Given the description of an element on the screen output the (x, y) to click on. 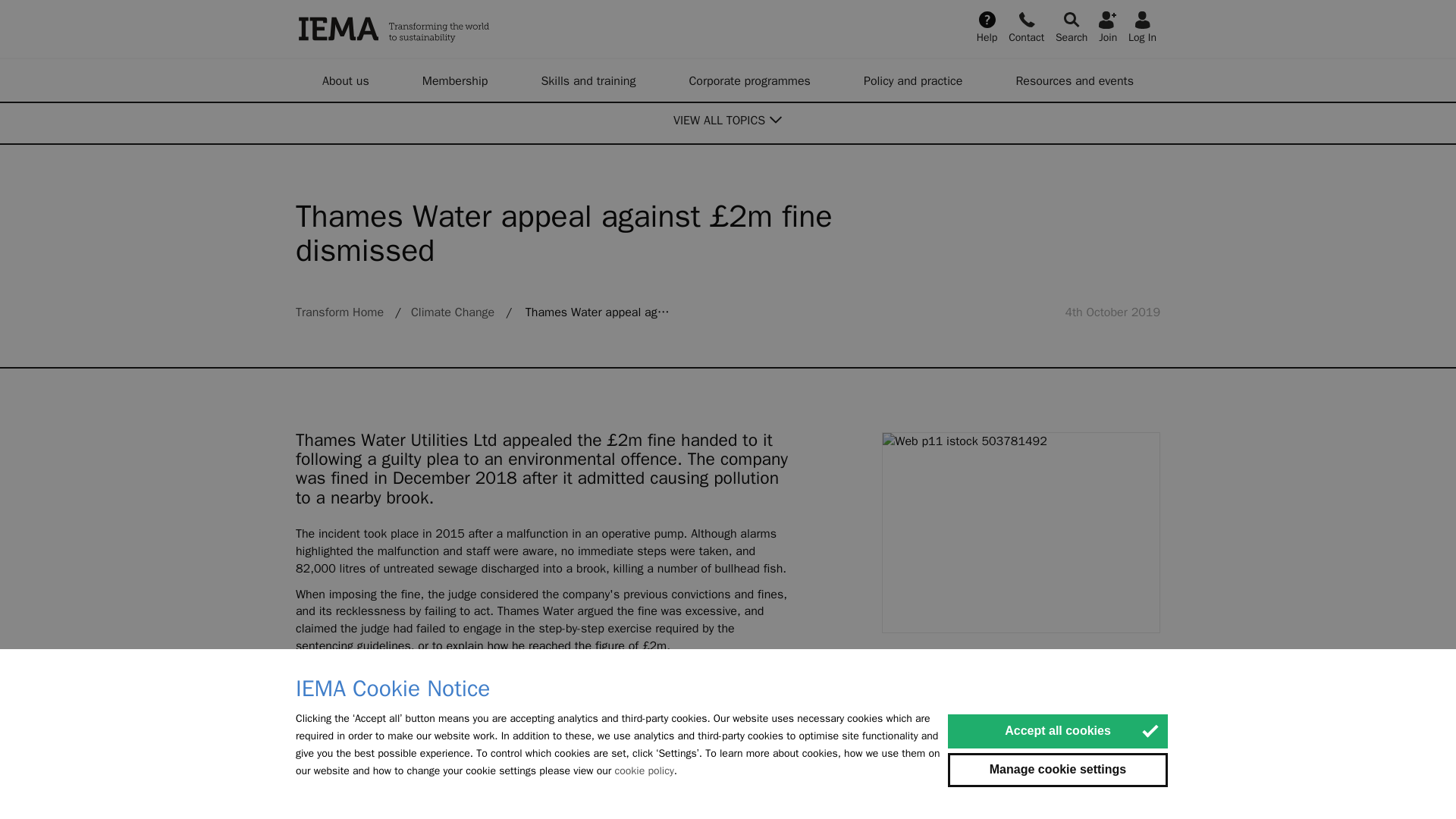
About us (345, 79)
Membership (455, 79)
IEMA (470, 28)
Contact (1026, 26)
